Given the description of an element on the screen output the (x, y) to click on. 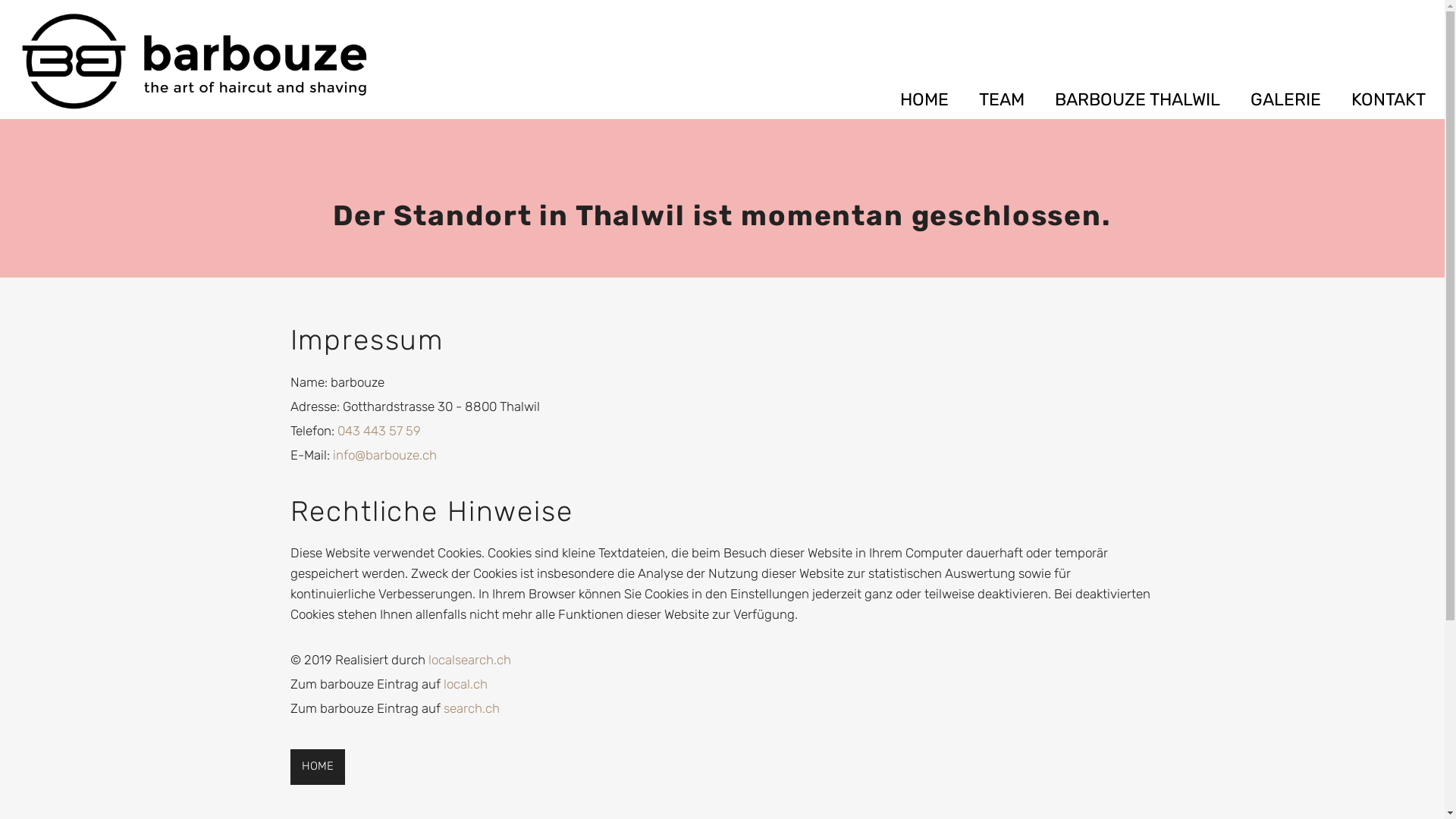
info@barbouze.ch Element type: text (384, 454)
TEAM Element type: text (1001, 99)
KONTAKT Element type: text (1388, 99)
local.ch Element type: text (464, 683)
GALERIE Element type: text (1285, 99)
043 443 57 59 Element type: text (378, 430)
HOME Element type: text (316, 766)
HOME Element type: text (924, 99)
localsearch.ch Element type: text (468, 659)
search.ch Element type: text (470, 707)
BARBOUZE THALWIL Element type: text (1137, 99)
